Given the description of an element on the screen output the (x, y) to click on. 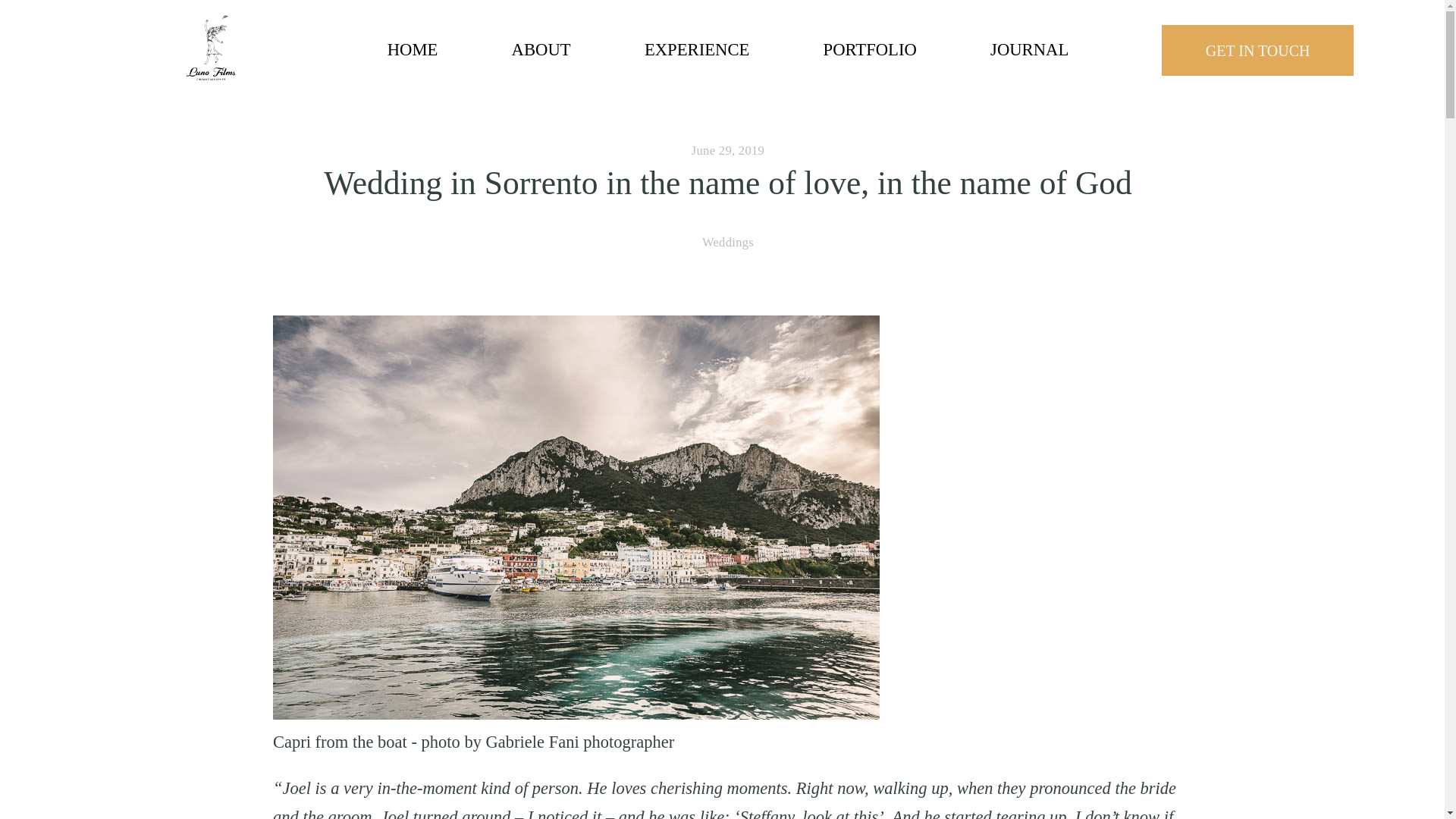
ABOUT (541, 50)
Weddings (727, 241)
GET IN TOUCH (1257, 50)
PORTFOLIO (870, 50)
EXPERIENCE (697, 50)
HOME (412, 50)
JOURNAL (1029, 50)
